Given the description of an element on the screen output the (x, y) to click on. 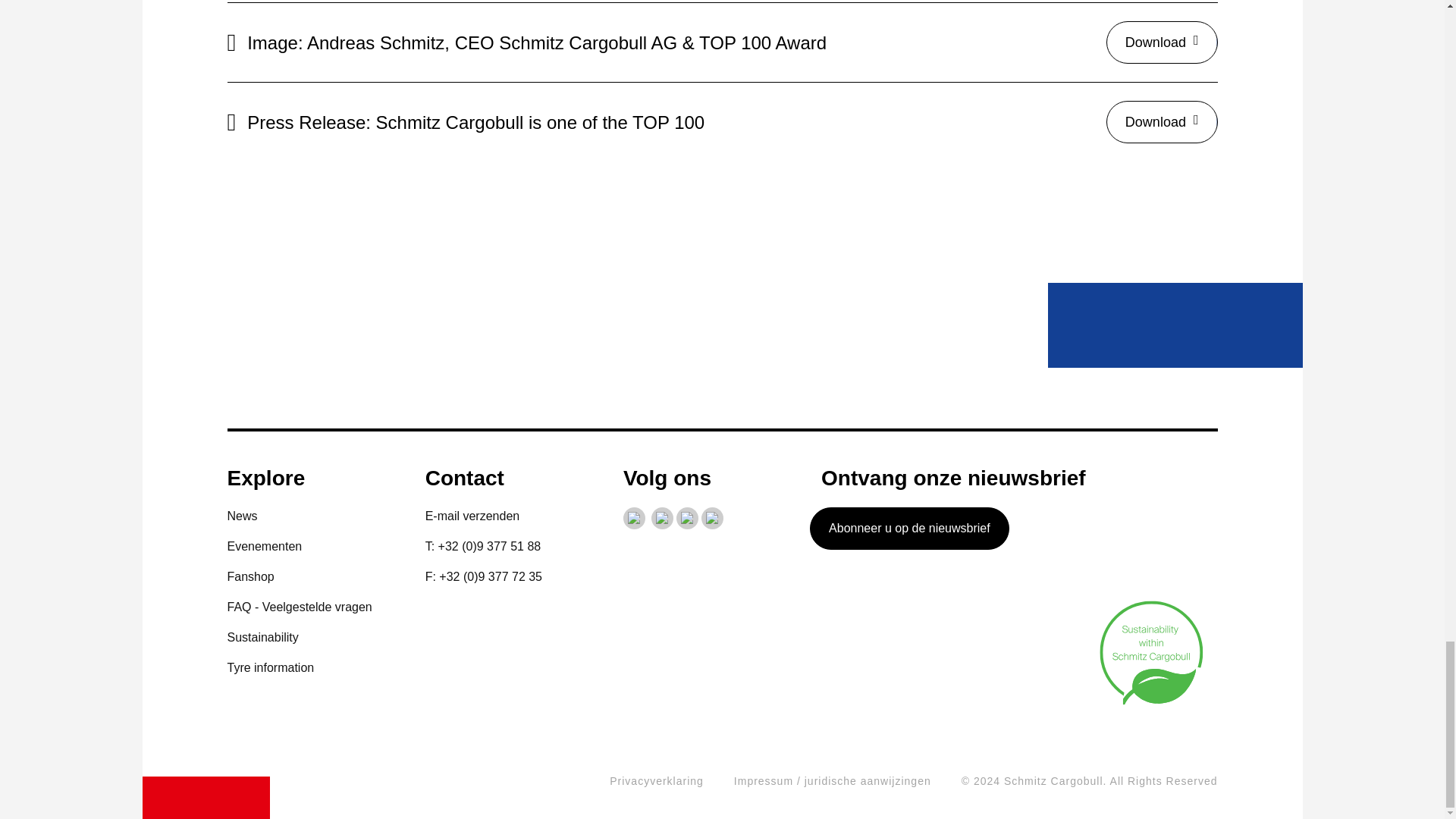
Abonneer u op de nieuwsbrief (909, 527)
